Given the description of an element on the screen output the (x, y) to click on. 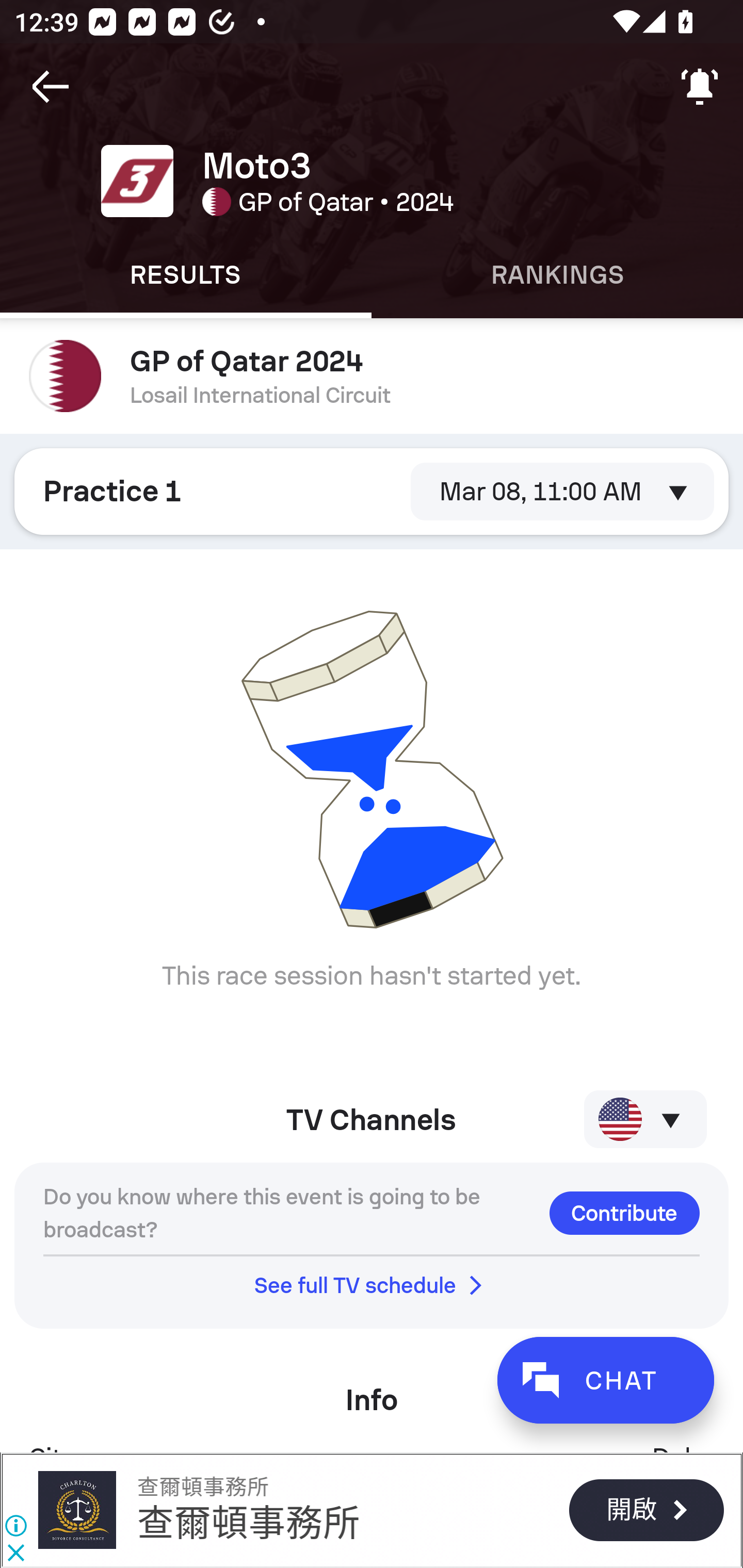
Navigate up (50, 86)
Rankings RANKINGS (557, 275)
Practice 1 Mar 08, 11:00 AM (371, 491)
Mar 08, 11:00 AM (562, 491)
Contribute (624, 1212)
See full TV schedule (371, 1284)
CHAT (605, 1380)
查爾頓事務所 (76, 1509)
查爾頓事務所 (201, 1486)
開啟 (645, 1509)
查爾頓事務所 (248, 1523)
